Given the description of an element on the screen output the (x, y) to click on. 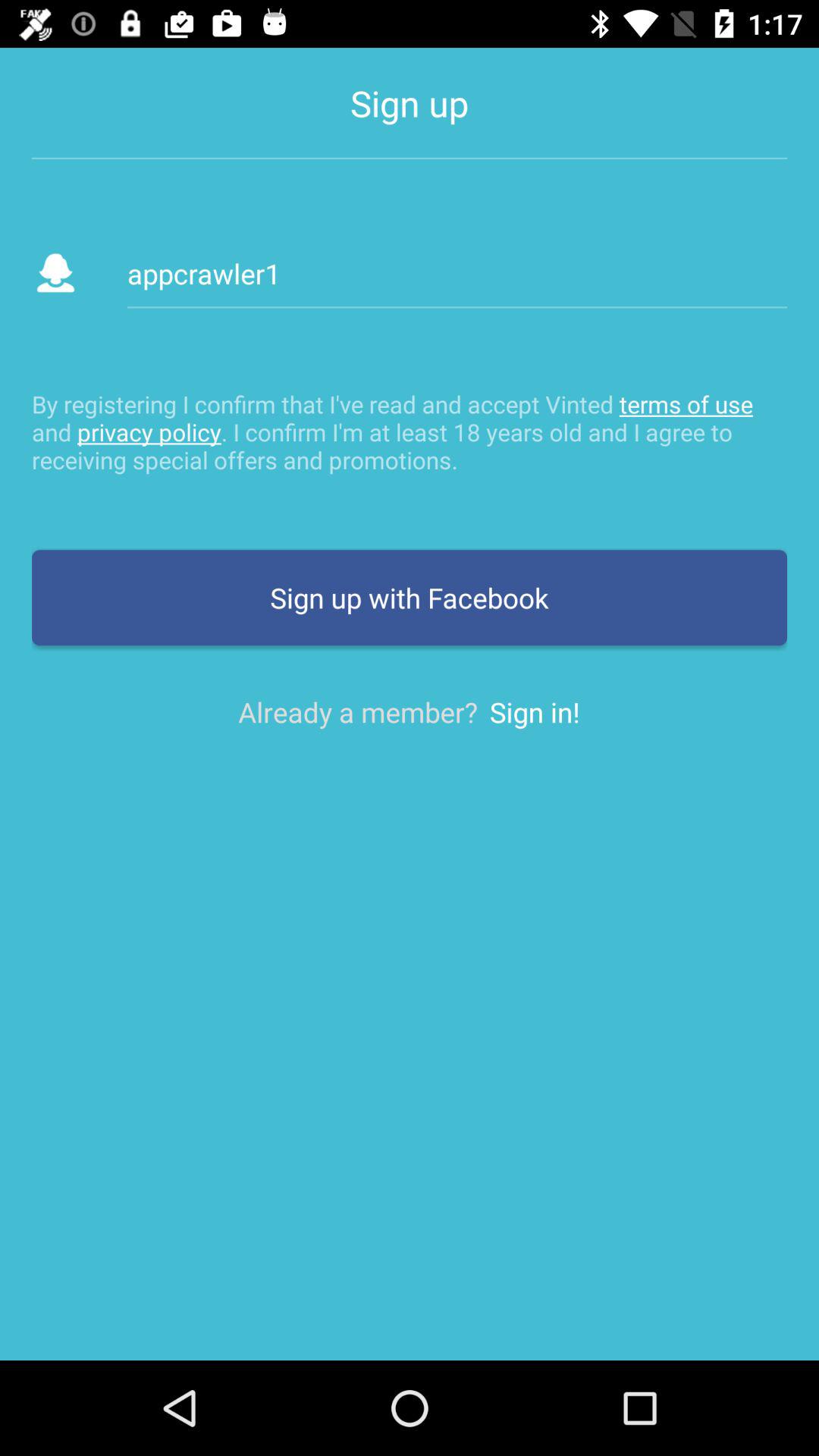
flip to the by registering i icon (409, 431)
